Given the description of an element on the screen output the (x, y) to click on. 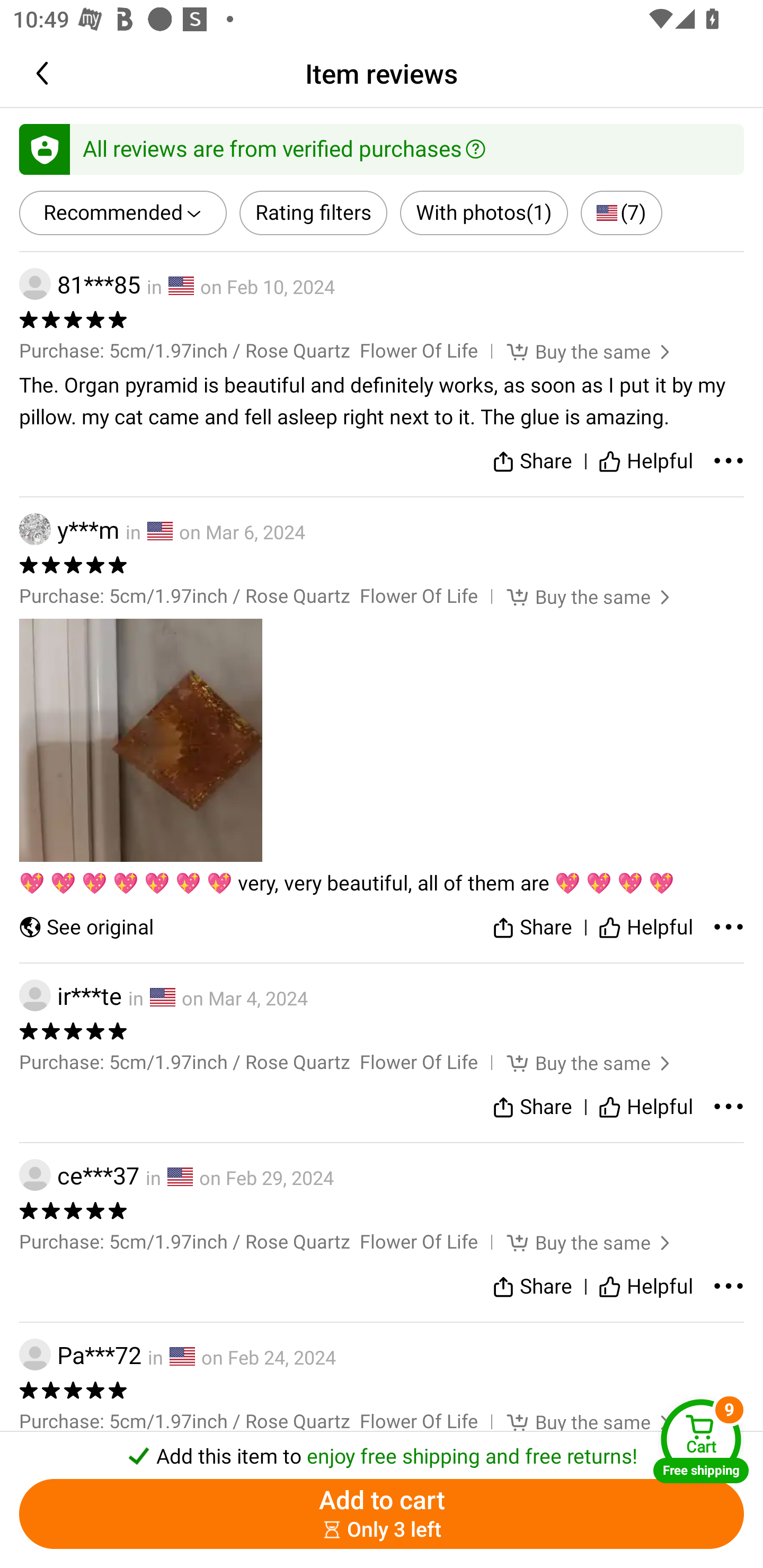
Item reviews (381, 72)
Back (46, 72)
All reviews are from verified purchases  (381, 148)
Recommended (122, 213)
Rating filters (313, 213)
With photos(1) (483, 213)
(7) (621, 213)
81***85 (79, 284)
   Buy the same   (576, 350)
  Share (532, 461)
  Helpful (645, 461)
y***m (69, 528)
   Buy the same   (576, 596)
  See original (86, 927)
  Share (532, 927)
  Helpful (645, 927)
ir***te (70, 995)
   Buy the same   (576, 1062)
  Share (532, 1106)
  Helpful (645, 1106)
ce***37 (79, 1174)
   Buy the same   (576, 1241)
  Share (532, 1286)
  Helpful (645, 1286)
Pa***72 (80, 1354)
Cart Free shipping Cart (701, 1440)
   Buy the same   (576, 1421)
Add to cart ￼￼Only 3 left (381, 1513)
Store Information  (109, 1564)
